Given the description of an element on the screen output the (x, y) to click on. 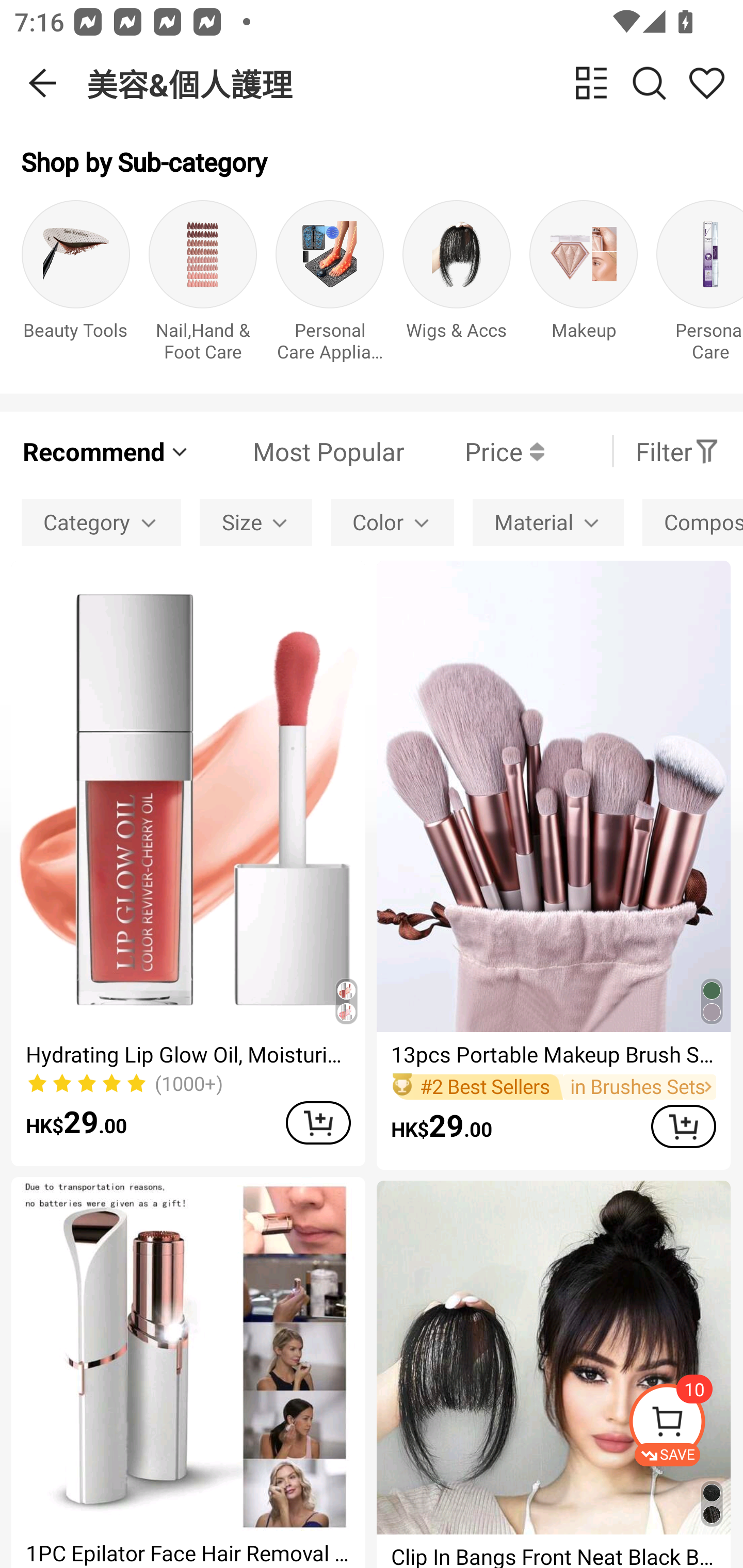
美容&個人護理 change view Search Share (414, 82)
change view (591, 82)
Search (648, 82)
Share (706, 82)
Beauty Tools (75, 285)
Nail,Hand & Foot Care (202, 285)
Personal Care Appliance (329, 285)
Wigs & Accs (456, 285)
Makeup (583, 285)
Personal Care (699, 285)
Recommend (106, 450)
Most Popular (297, 450)
Price (474, 450)
Filter (677, 450)
Category (101, 521)
Size (255, 521)
Color (391, 521)
Material (548, 521)
Composition (692, 521)
#2 Best Sellers in Brushes Sets (553, 1086)
ADD TO CART (318, 1122)
ADD TO CART (683, 1126)
SAVE (685, 1424)
